Given the description of an element on the screen output the (x, y) to click on. 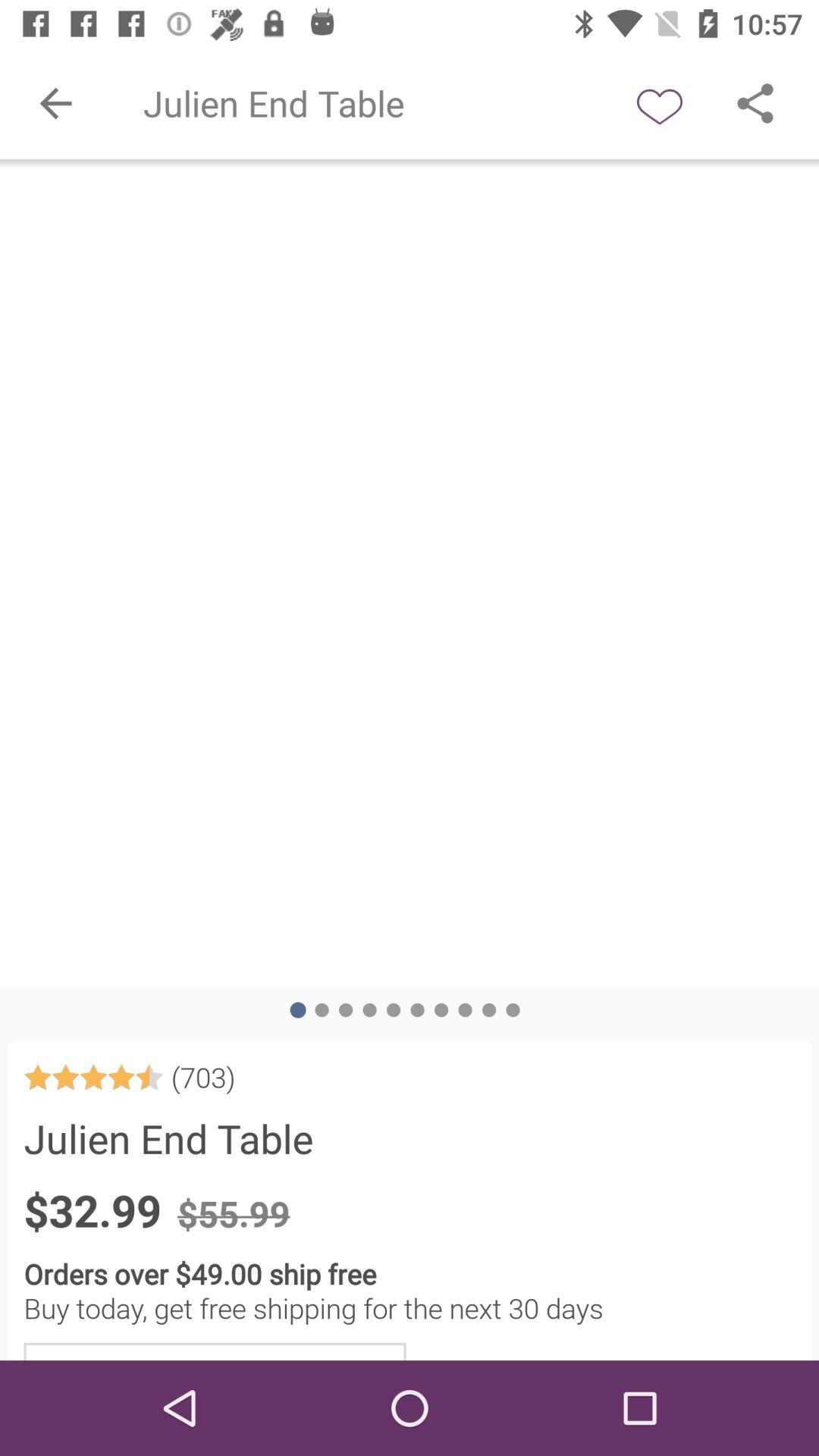
share information (755, 103)
